Given the description of an element on the screen output the (x, y) to click on. 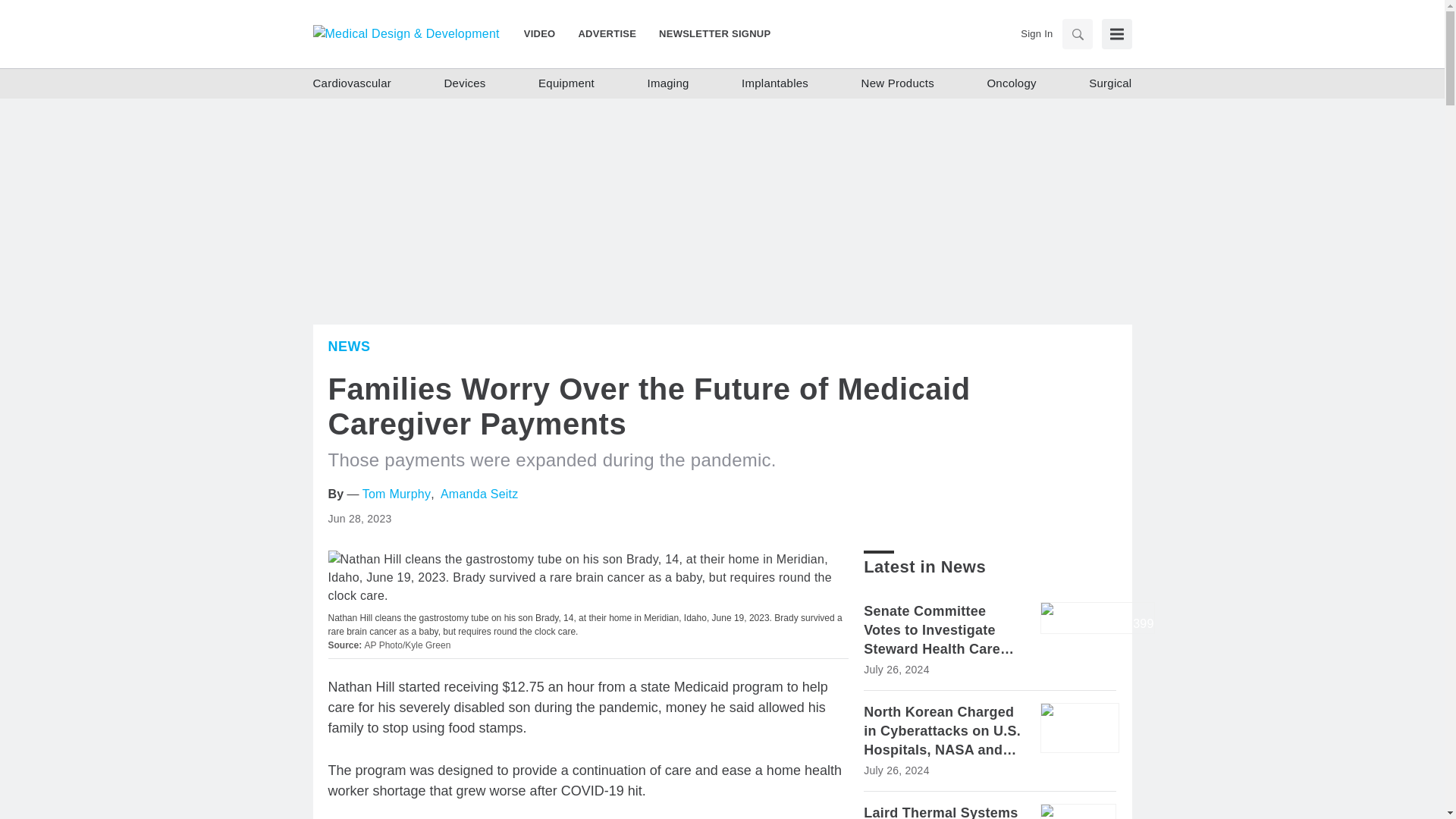
NEWSLETTER SIGNUP (708, 33)
Devices (465, 83)
New Products (897, 83)
ADVERTISE (606, 33)
Sign In (1036, 33)
Oncology (1011, 83)
Surgical (1110, 83)
Cardiovascular (352, 83)
Imaging (667, 83)
Implantables (774, 83)
News (348, 346)
VIDEO (545, 33)
Equipment (566, 83)
